Given the description of an element on the screen output the (x, y) to click on. 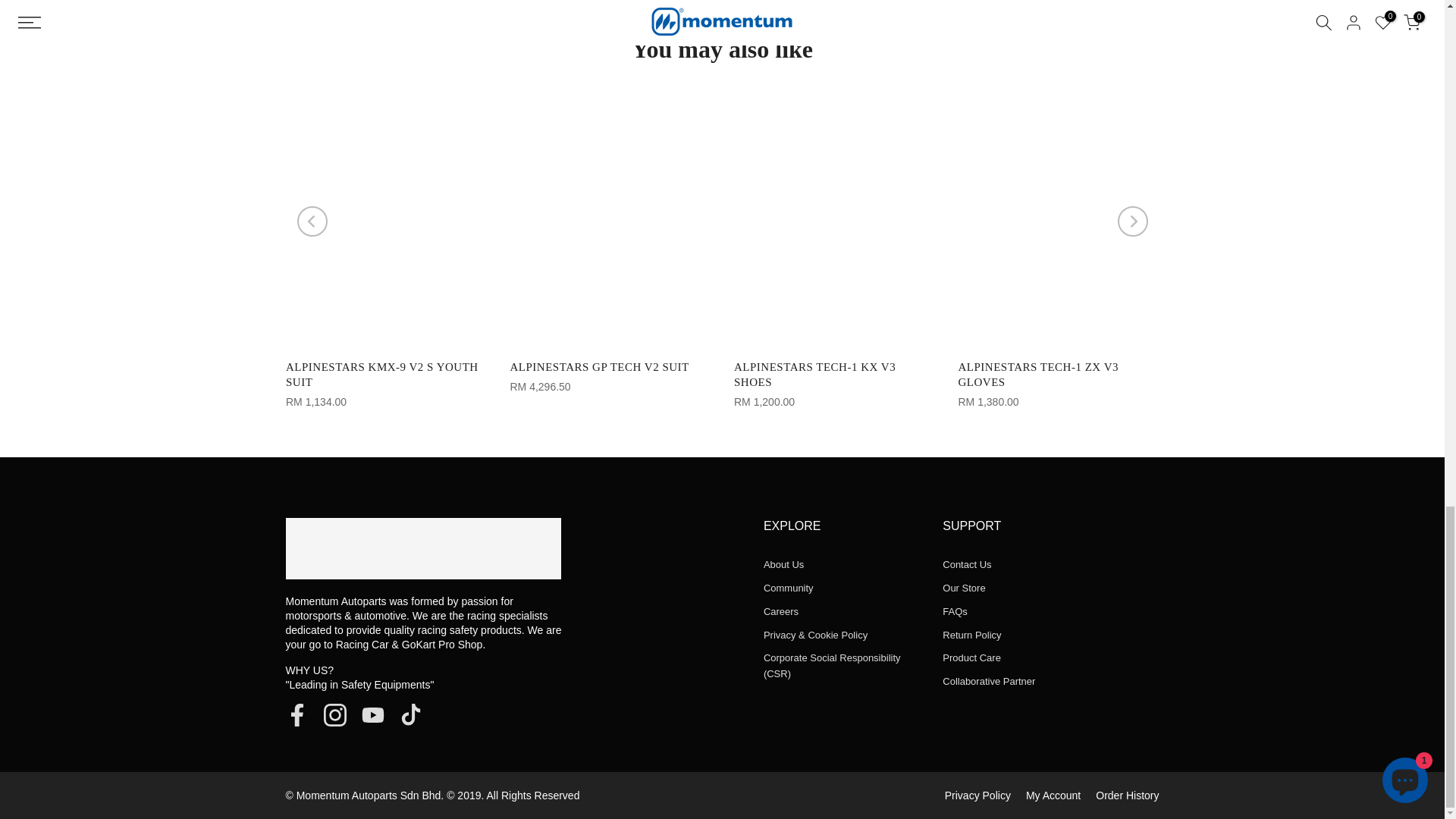
Follow on Facebook (296, 714)
Follow on YouTube (372, 714)
Follow on Instagram (334, 714)
Follow on Tiktok (410, 714)
